Given the description of an element on the screen output the (x, y) to click on. 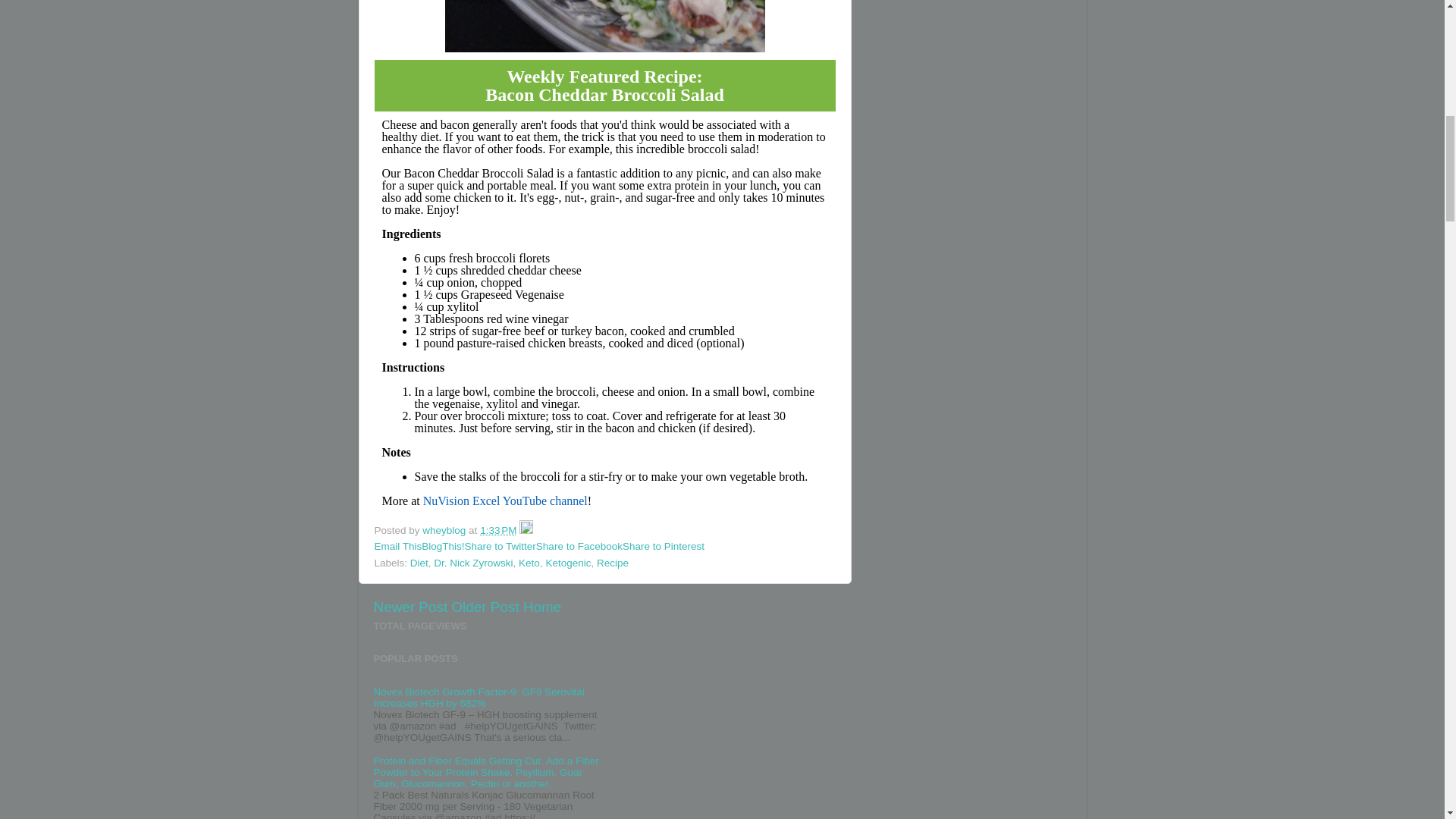
wheyblog (445, 530)
Older Post (484, 606)
Share to Facebook (579, 546)
BlogThis! (443, 546)
Share to Pinterest (663, 546)
BlogThis! (443, 546)
Share to Pinterest (663, 546)
Older Post (484, 606)
Newer Post (409, 606)
Home (541, 606)
Keto (529, 562)
NuVision Excel YouTube channel (505, 500)
Ketogenic (567, 562)
author profile (445, 530)
